Given the description of an element on the screen output the (x, y) to click on. 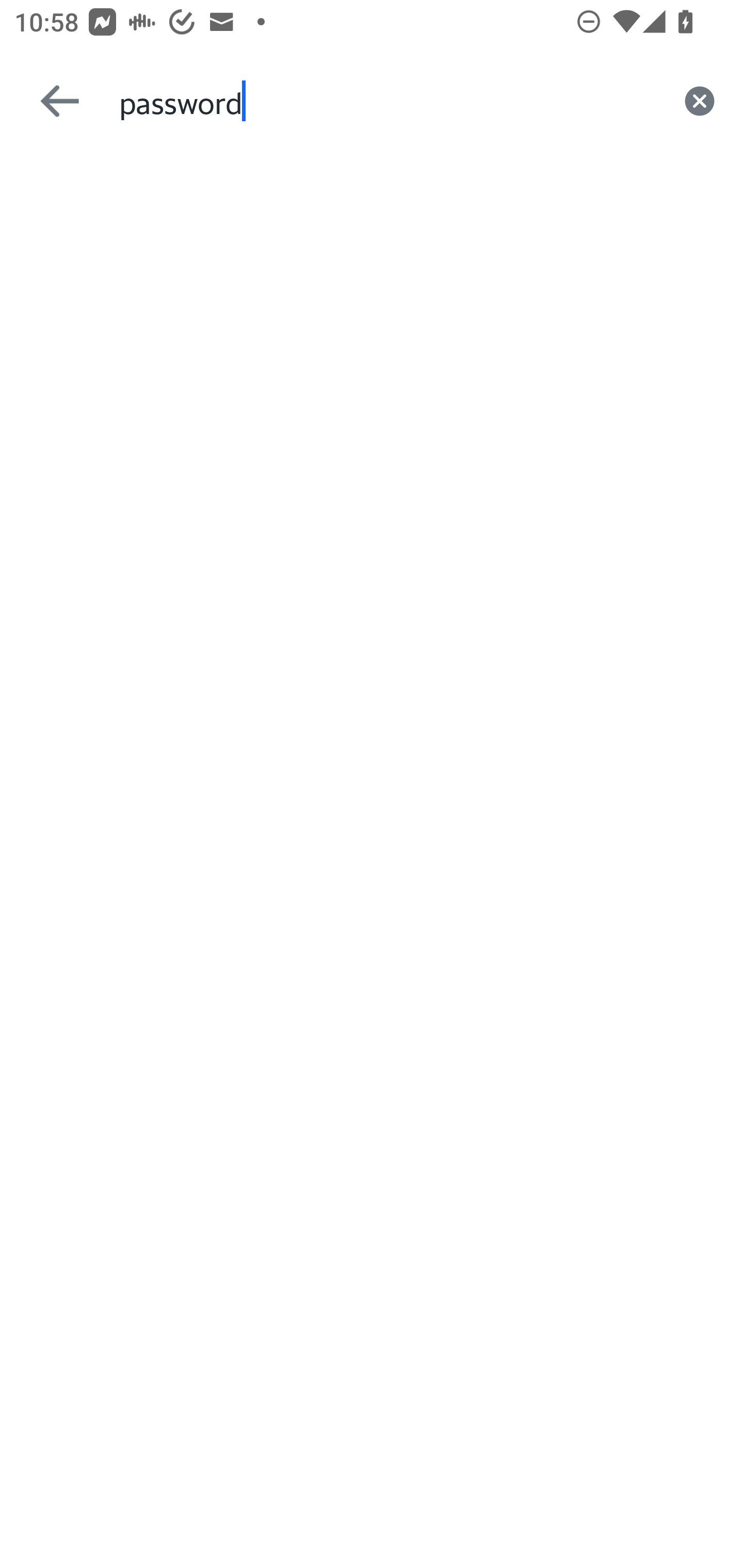
Back (50, 101)
password (387, 101)
Clear (699, 101)
